Given the description of an element on the screen output the (x, y) to click on. 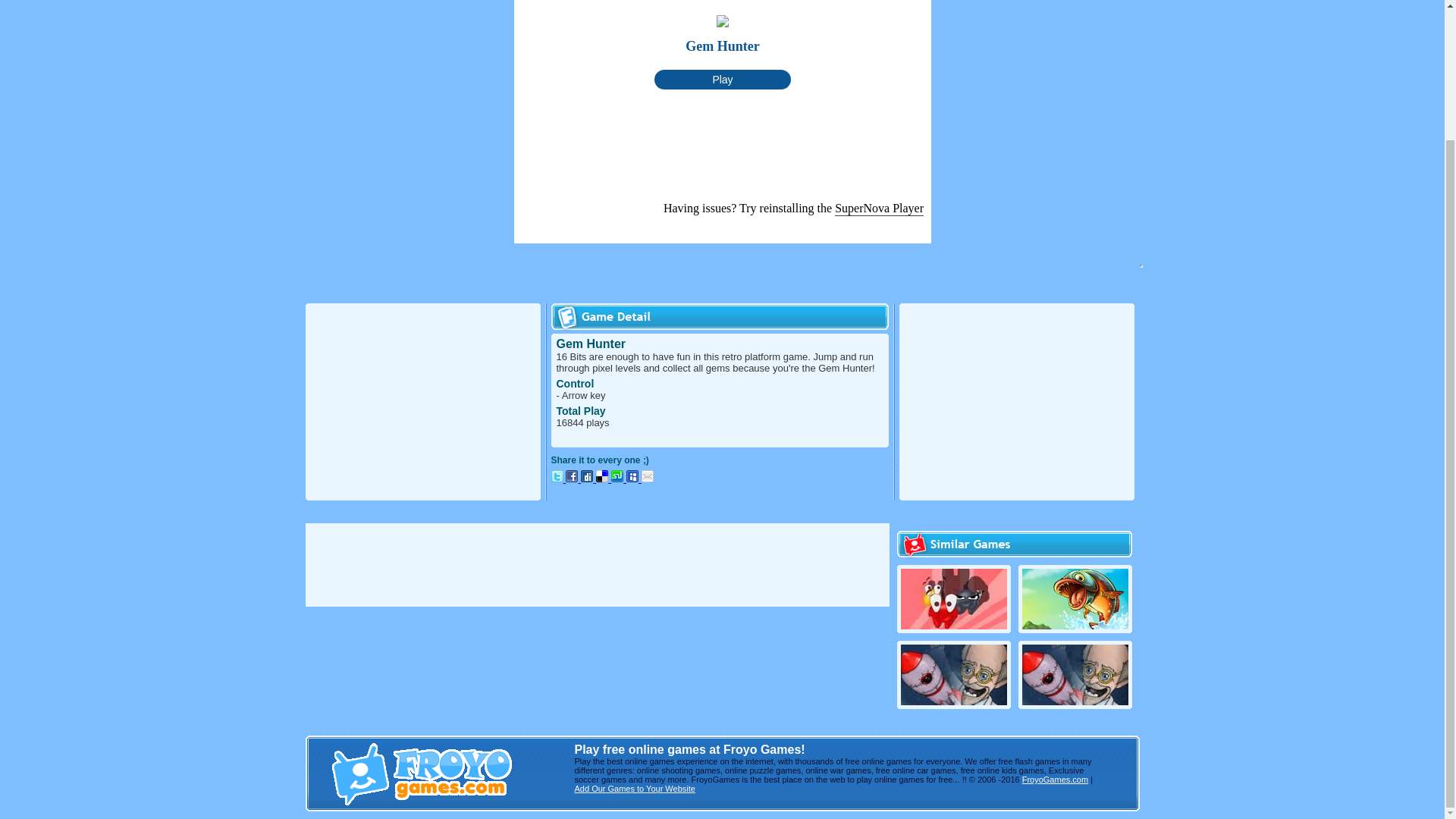
Digg (586, 476)
Play Huje Tower 2  (954, 625)
Delicious (601, 476)
Delicious (603, 478)
Myspace (634, 478)
Digg (587, 478)
Facebook (572, 476)
Twitter (558, 478)
FroyoGames.com (1054, 778)
Play Into Space 2 (1075, 701)
